Given the description of an element on the screen output the (x, y) to click on. 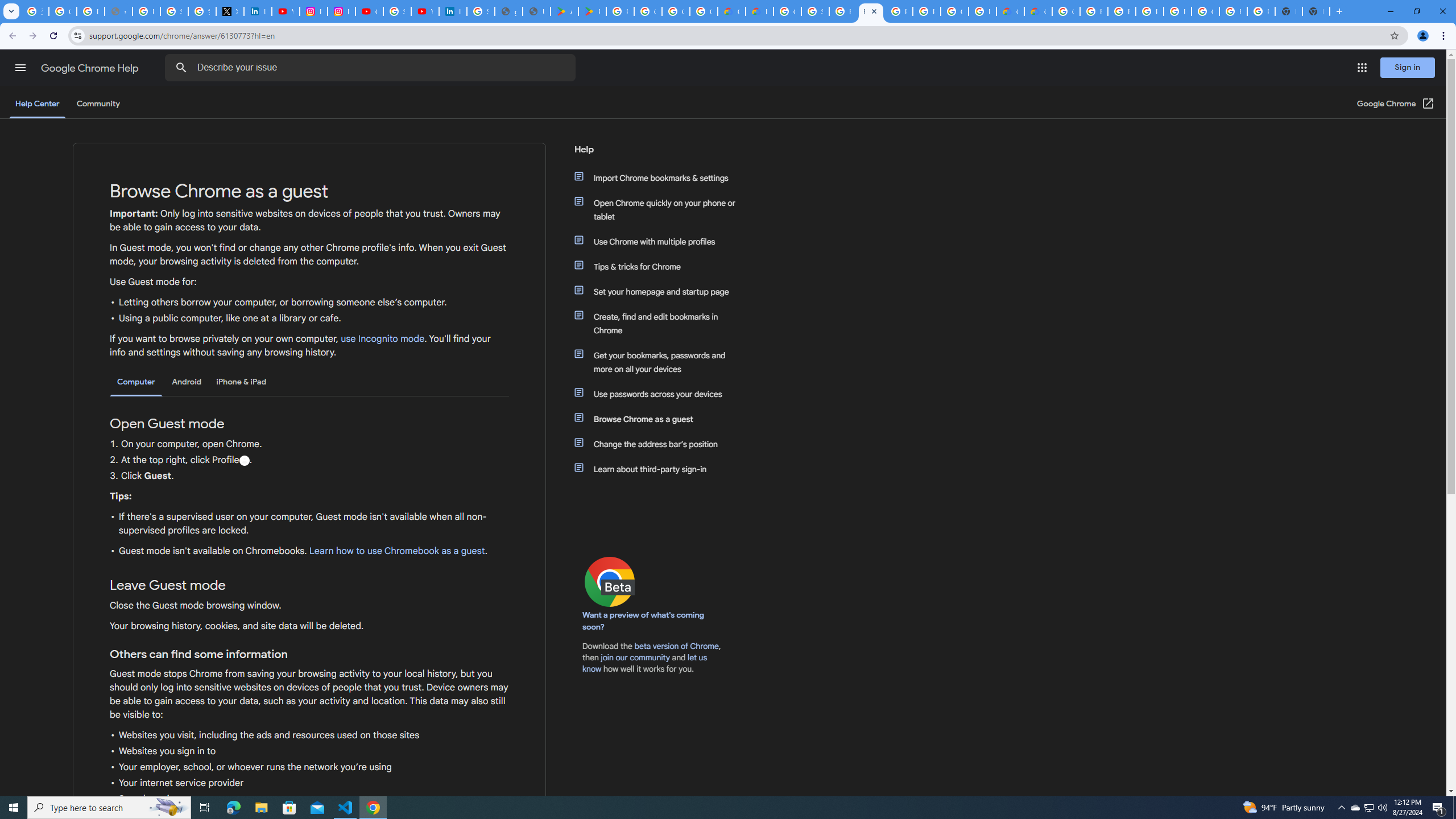
Google Chrome (Open in a new window) (1395, 103)
Android Apps on Google Play (564, 11)
Google Chrome Help (90, 68)
Google Cloud Platform (1205, 11)
Import Chrome bookmarks & settings (661, 177)
Chrome Beta logo (609, 581)
